Given the description of an element on the screen output the (x, y) to click on. 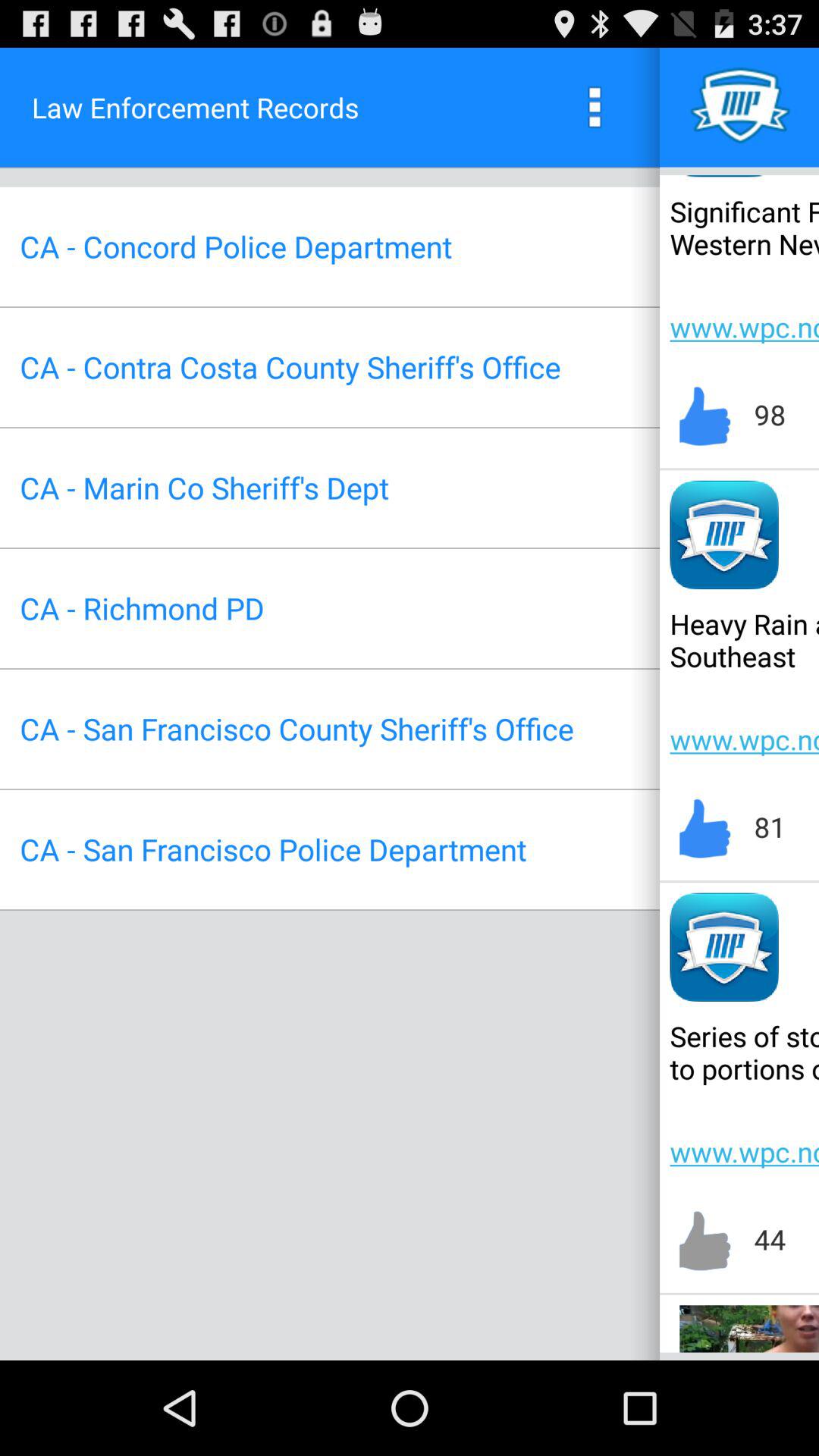
open the item above ca san francisco (141, 608)
